Given the description of an element on the screen output the (x, y) to click on. 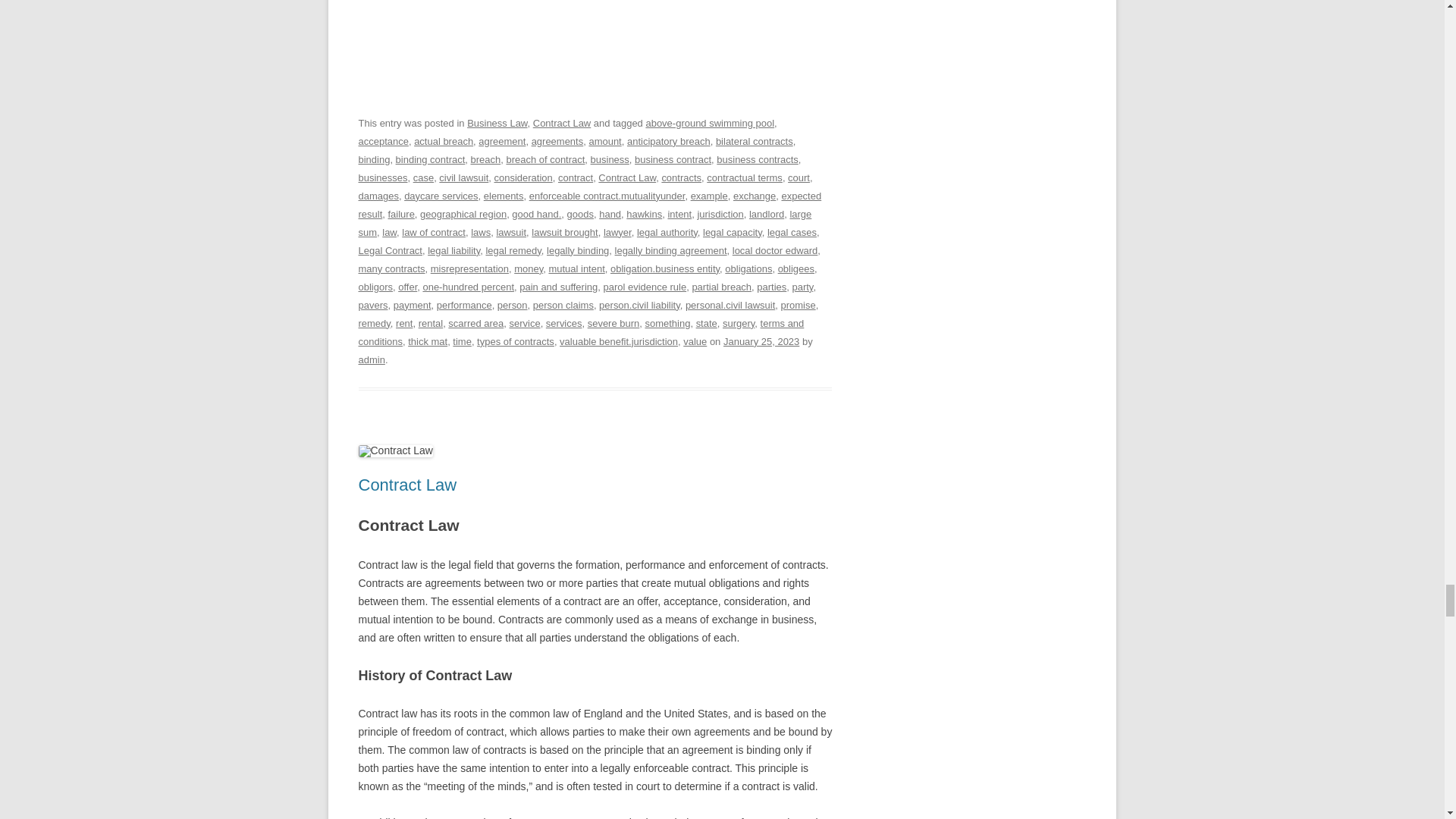
Contract Law (594, 525)
5:15 pm (761, 341)
History of Contract Law (594, 676)
View all posts by admin (371, 359)
